Given the description of an element on the screen output the (x, y) to click on. 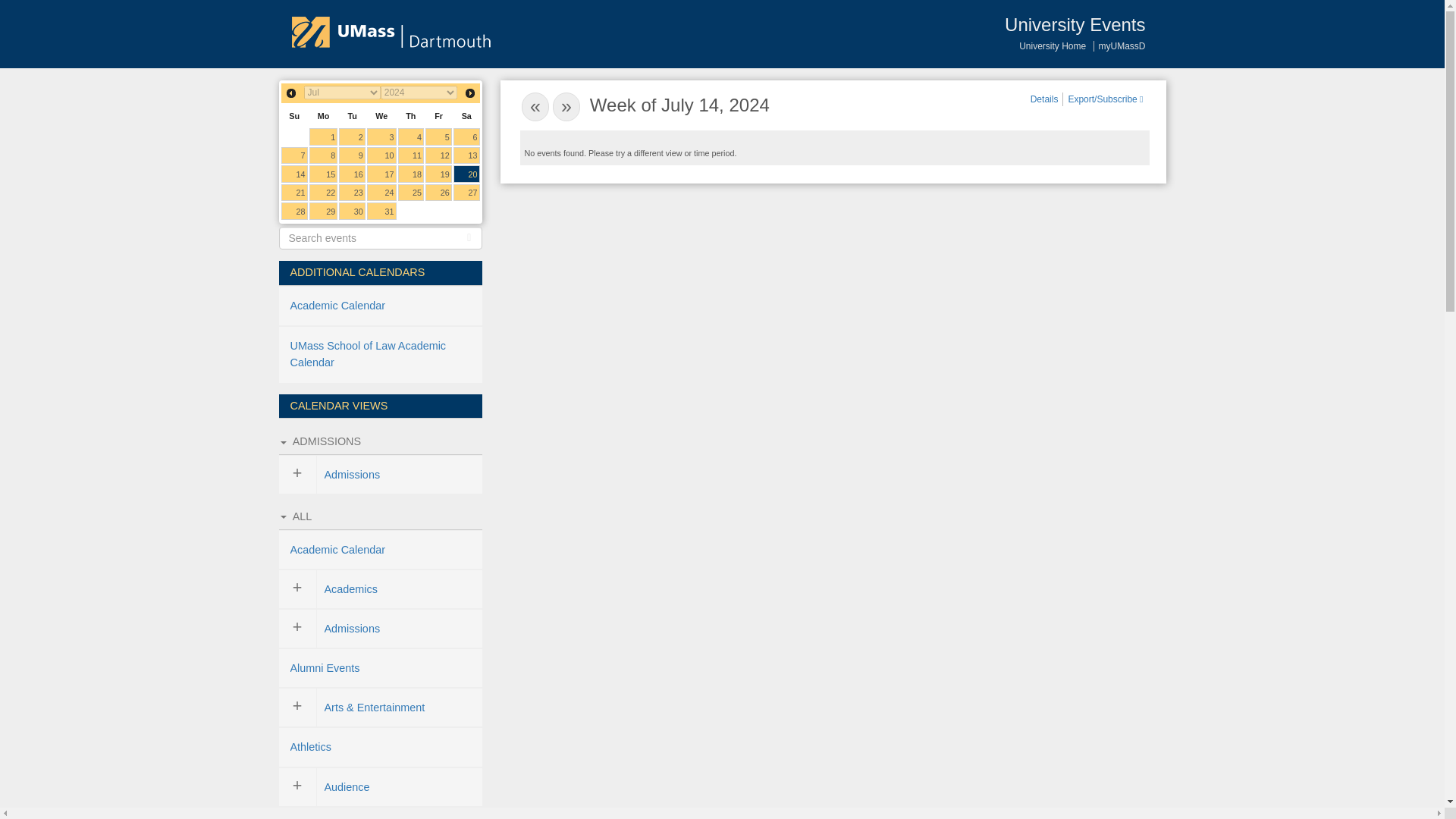
26 (438, 192)
Tuesday (351, 115)
4 (411, 136)
23 (352, 192)
14 (294, 173)
9 (352, 155)
Friday (437, 115)
13 (466, 155)
27 (466, 192)
30 (352, 211)
25 (411, 192)
Next (470, 93)
2 (352, 136)
22 (322, 192)
3 (381, 136)
